Given the description of an element on the screen output the (x, y) to click on. 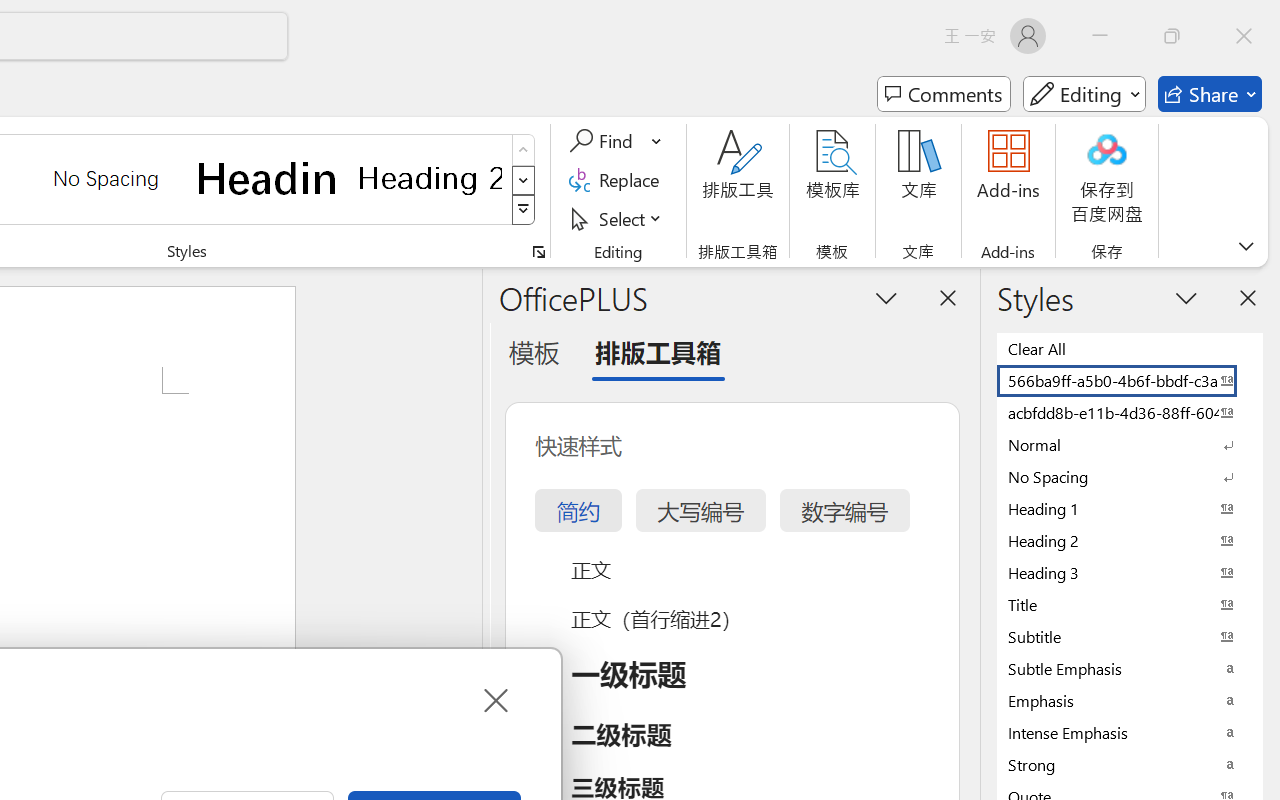
Strong (1130, 764)
Mode (1083, 94)
Restore Down (1172, 36)
Title (1130, 604)
Subtle Emphasis (1130, 668)
Select (618, 218)
Comments (943, 94)
Heading 3 (1130, 572)
Subtitle (1130, 636)
Heading 1 (267, 178)
Emphasis (1130, 700)
